Given the description of an element on the screen output the (x, y) to click on. 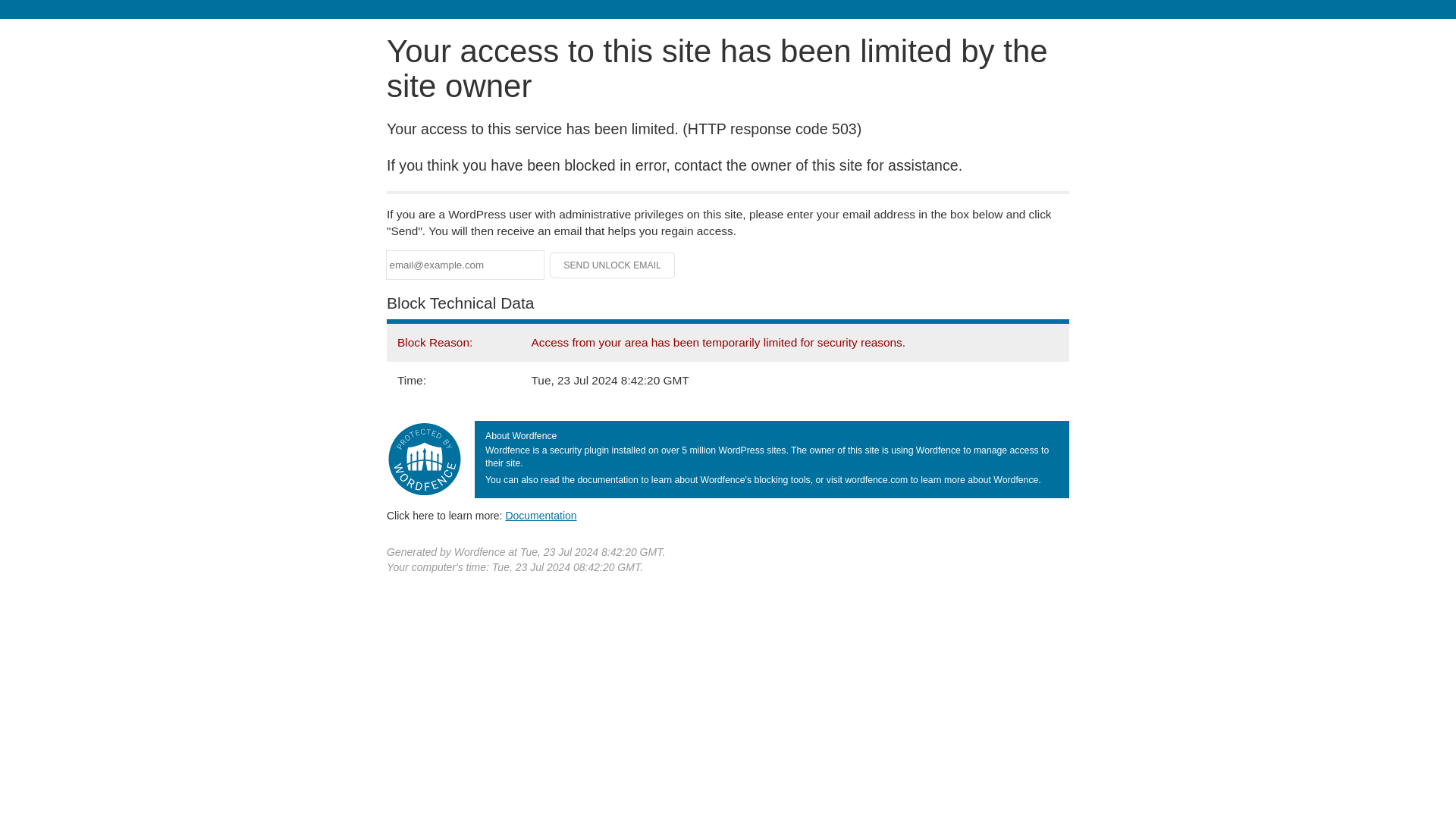
Send Unlock Email (612, 265)
Send Unlock Email (612, 265)
Documentation (540, 515)
